Given the description of an element on the screen output the (x, y) to click on. 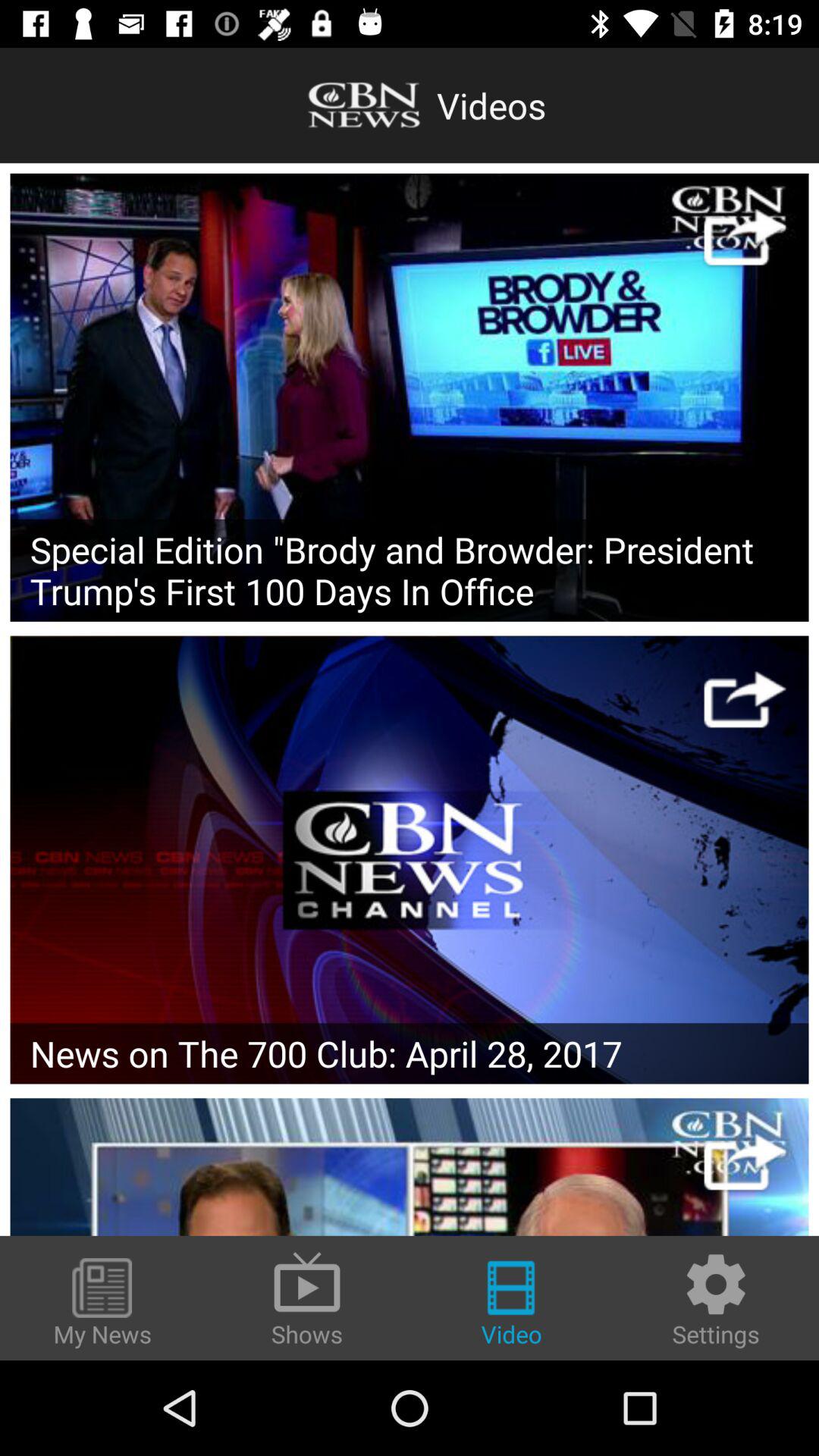
turn off special edition brody icon (409, 570)
